Given the description of an element on the screen output the (x, y) to click on. 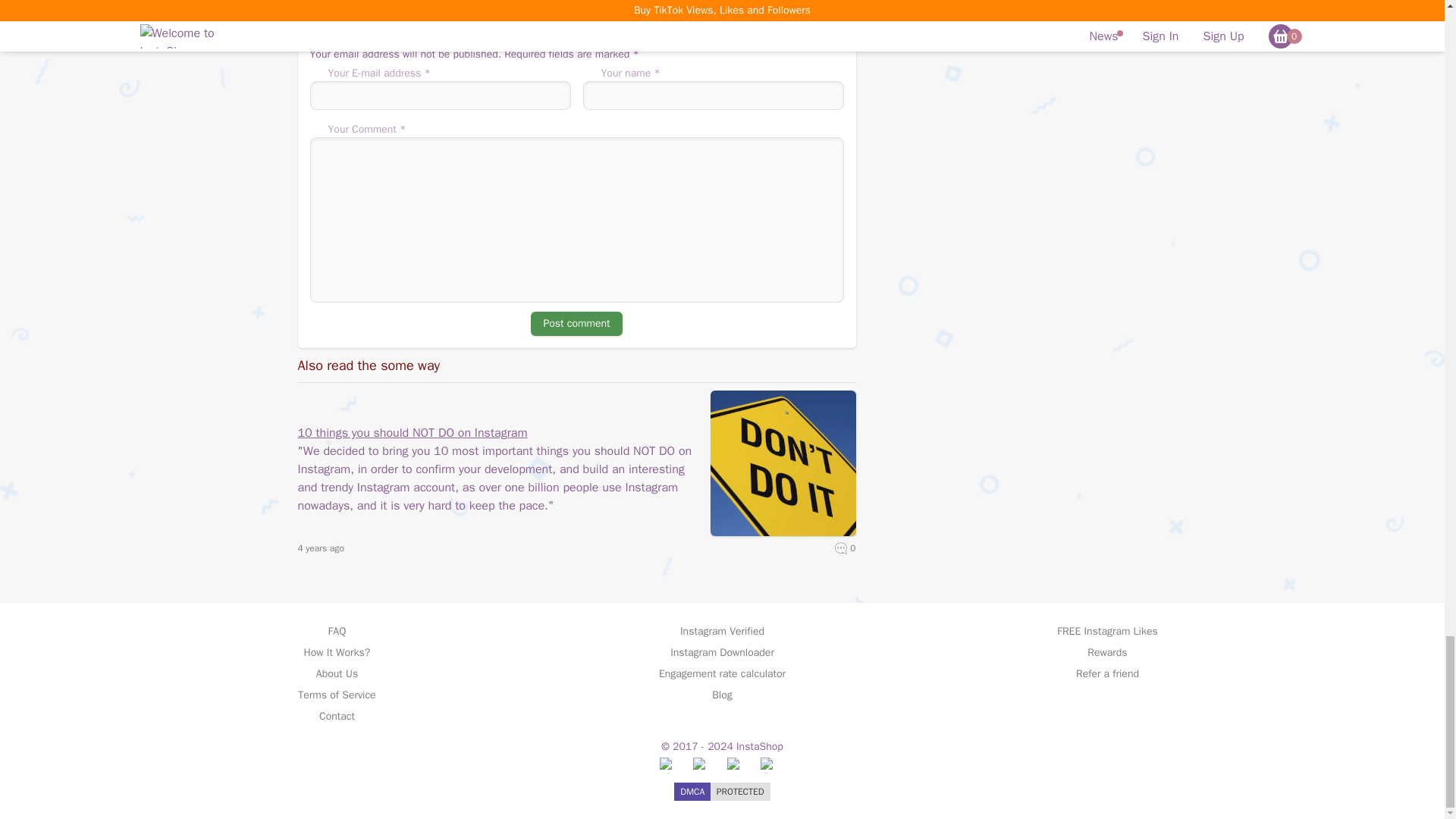
Post comment (576, 323)
10 things you should NOT DO on Instagram (497, 433)
